Given the description of an element on the screen output the (x, y) to click on. 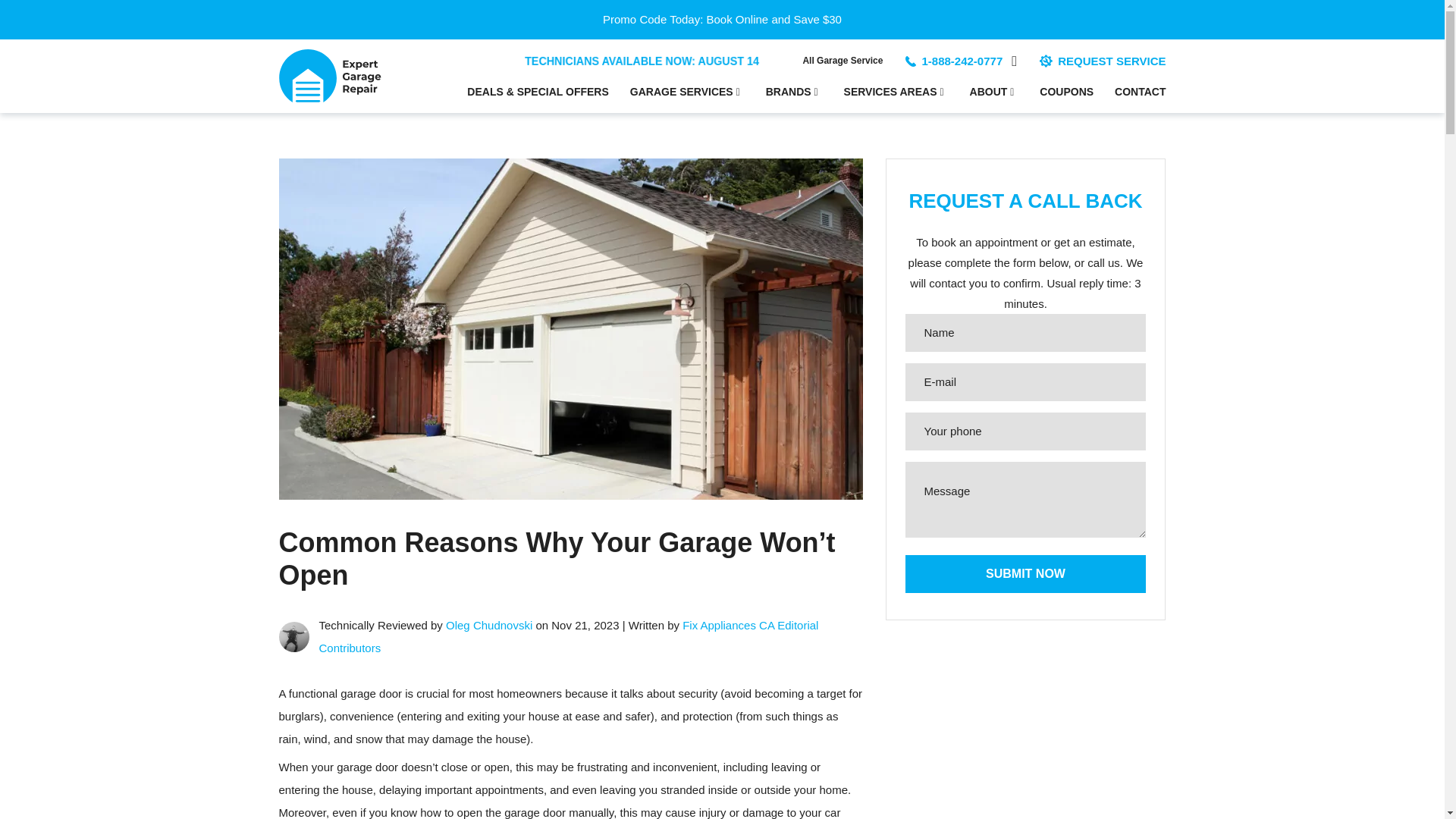
BRANDS (793, 92)
1-888-242-0777 (962, 60)
Submit Now (1026, 573)
REQUEST SERVICE (1102, 60)
GARAGE SERVICES (687, 92)
